Given the description of an element on the screen output the (x, y) to click on. 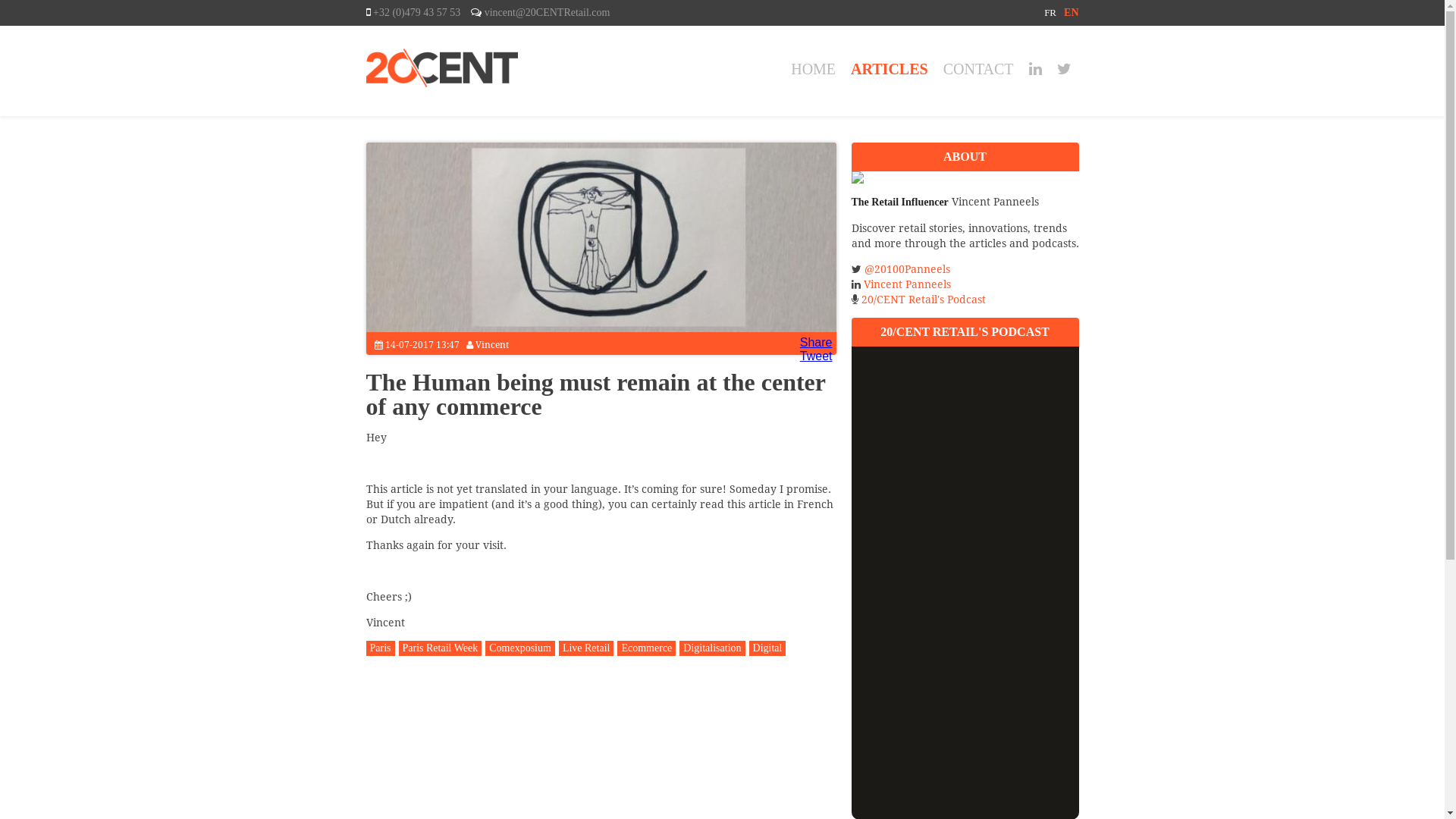
FR Element type: text (1050, 12)
Vincent Panneels Element type: text (906, 284)
Paris Element type: text (379, 647)
@20100Panneels Element type: text (907, 269)
Paris Retail Week Element type: text (440, 647)
Tweet Element type: text (816, 355)
CONTACT Element type: text (978, 68)
Comexposium Element type: text (520, 647)
Share Element type: text (816, 341)
ARTICLES Element type: text (889, 68)
Digital Element type: text (767, 647)
HOME Element type: text (813, 68)
Digitalisation Element type: text (711, 647)
20/CENT Retail's Podcast Element type: text (923, 299)
Ecommerce Element type: text (646, 647)
Live Retail Element type: text (586, 647)
